Given the description of an element on the screen output the (x, y) to click on. 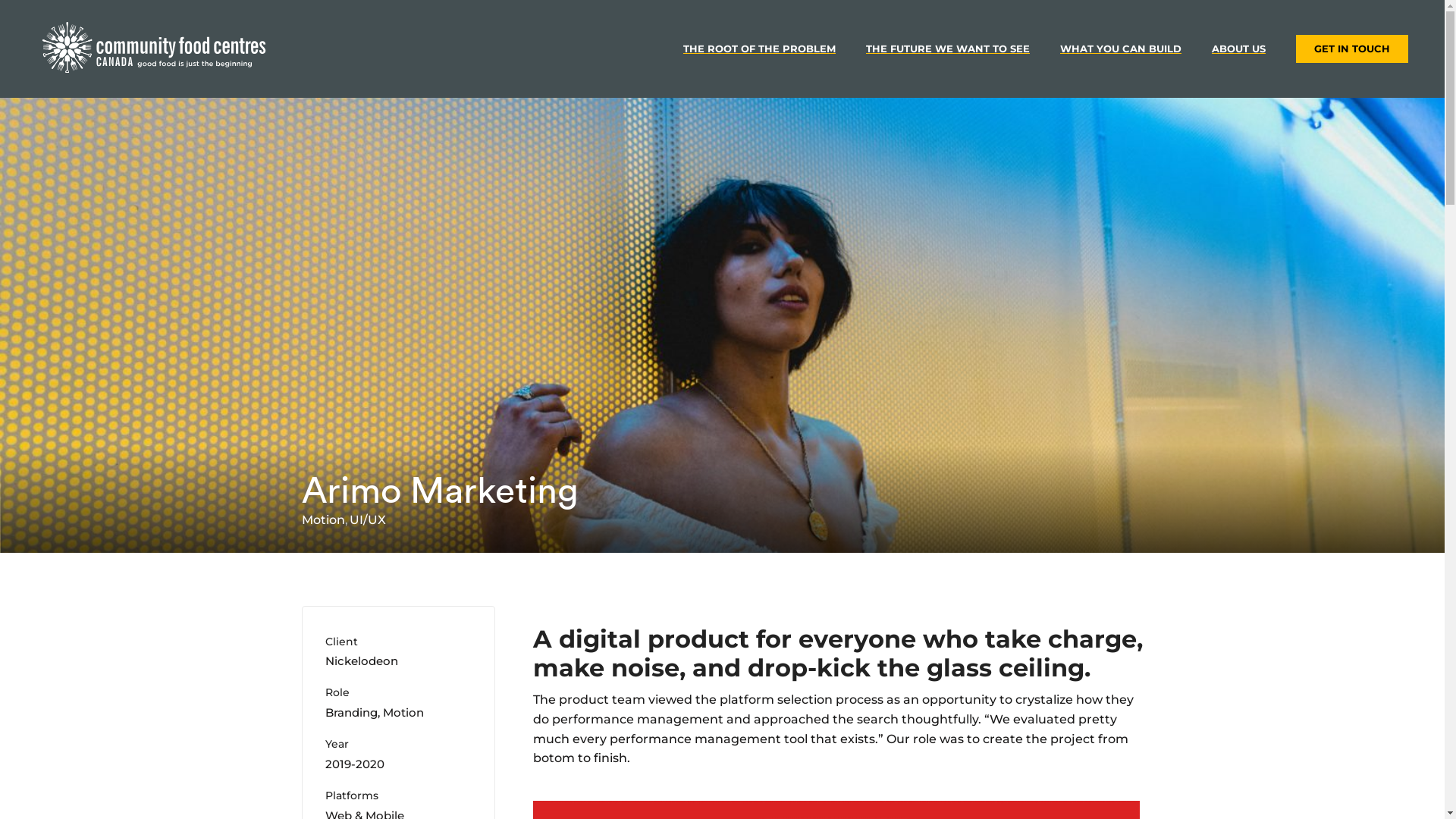
WHAT YOU CAN BUILD Element type: text (1120, 48)
THE FUTURE WE WANT TO SEE Element type: text (947, 48)
THE ROOT OF THE PROBLEM Element type: text (759, 48)
ABOUT US Element type: text (1238, 48)
GET IN TOUCH Element type: text (1351, 48)
